Given the description of an element on the screen output the (x, y) to click on. 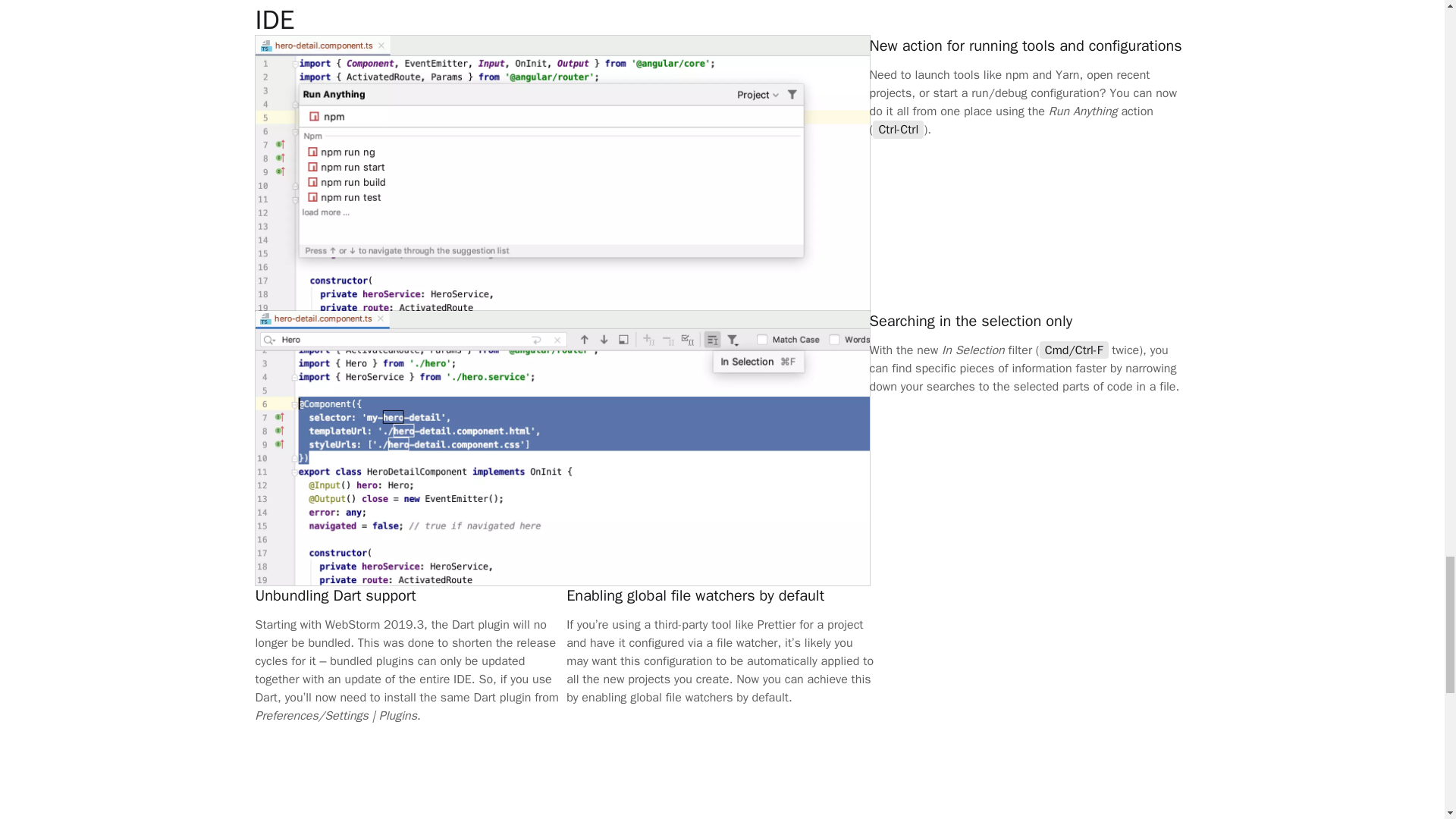
Run Anything action (1024, 46)
Search in selection only (970, 321)
